Given the description of an element on the screen output the (x, y) to click on. 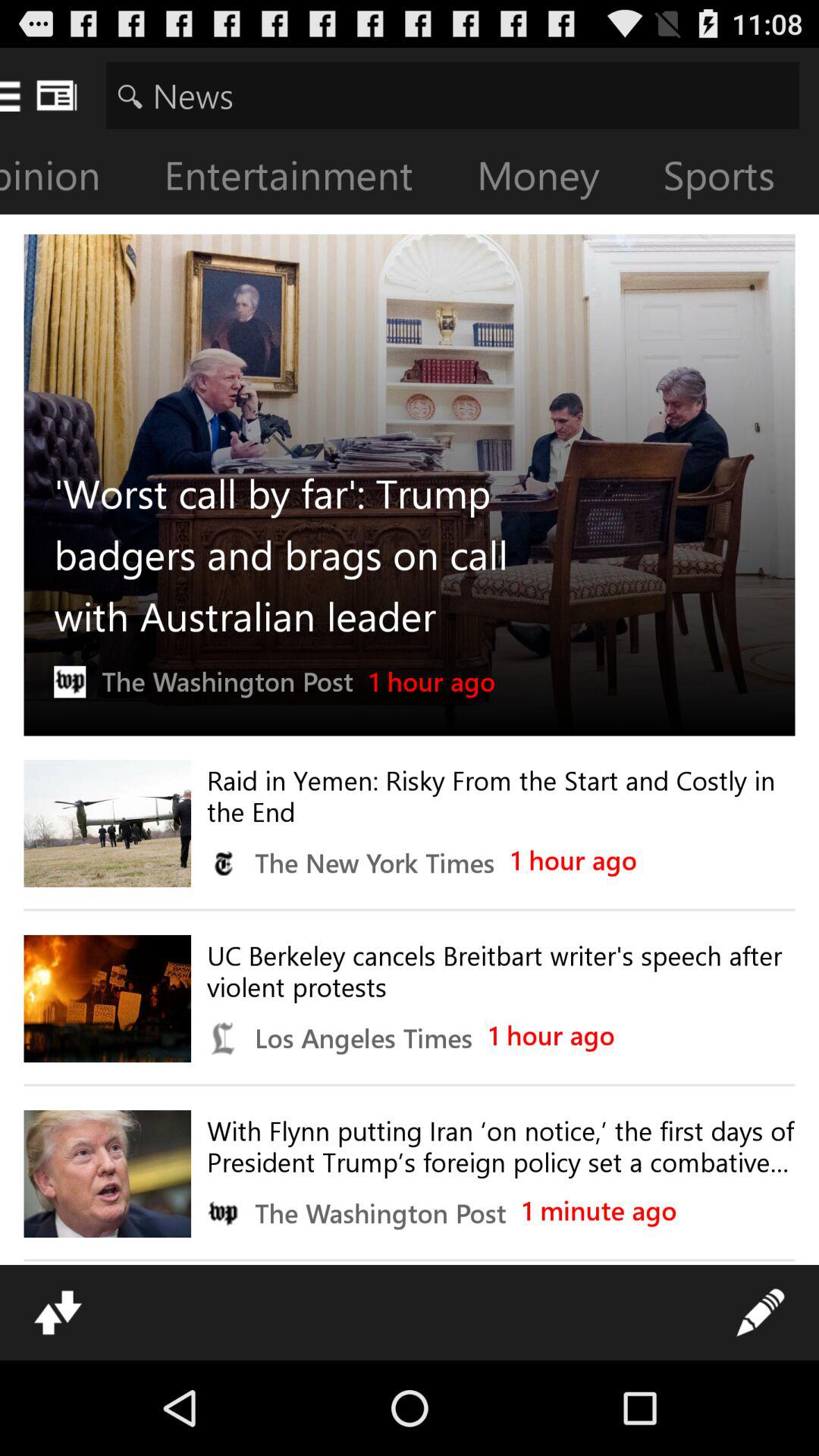
search for news (452, 95)
